Given the description of an element on the screen output the (x, y) to click on. 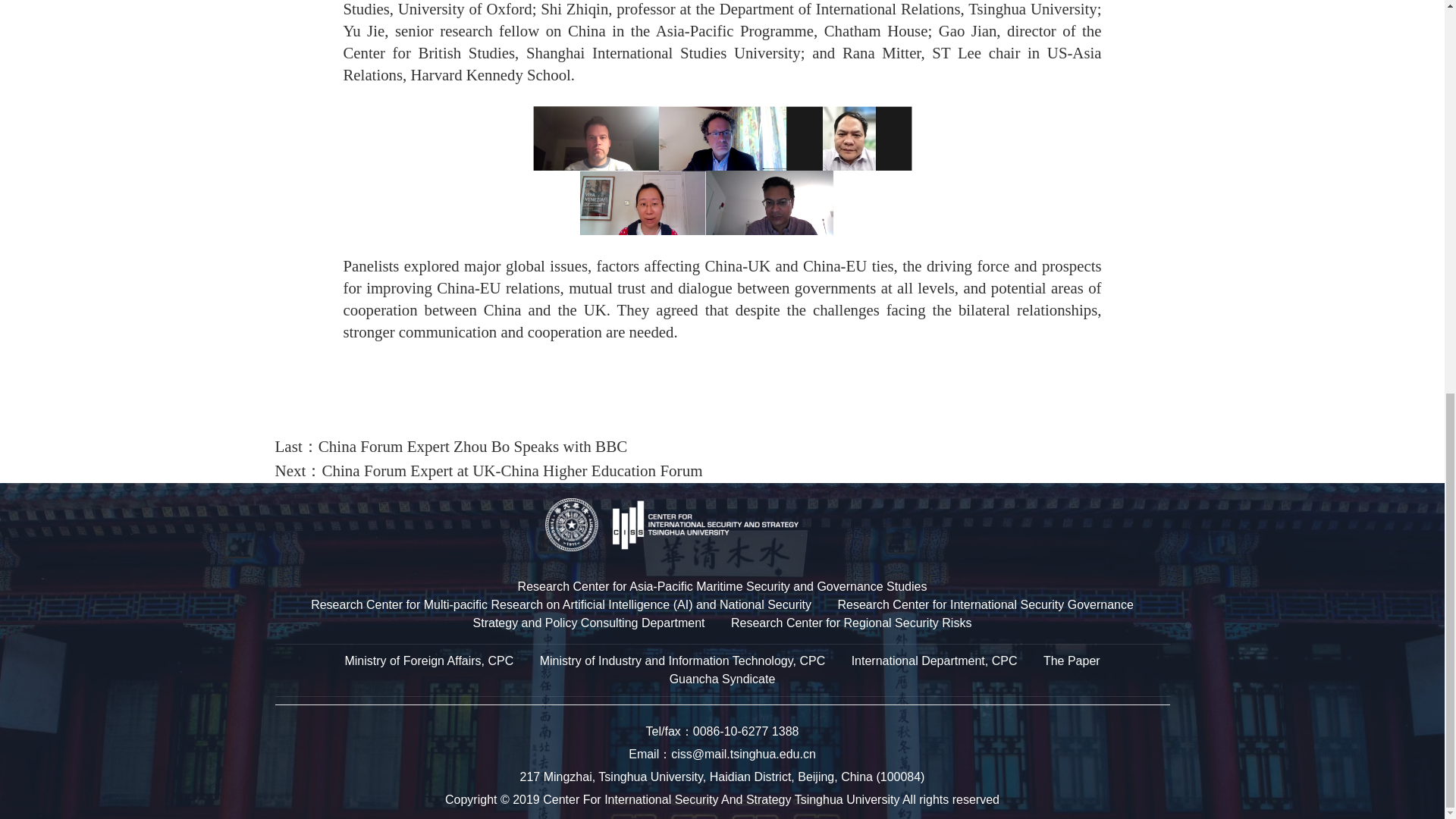
Research Center for Regional Security Risks (850, 622)
Research Center for International Security Governance (984, 604)
1695805418570075895.jpg (721, 170)
Ministry of Industry and Information Technology, CPC (682, 660)
Ministry of Foreign Affairs, CPC (428, 660)
The Paper (1071, 660)
International Department, CPC (934, 660)
Strategy and Policy Consulting Department (588, 622)
Guancha Syndicate (722, 678)
Ministry of Foreign Affairs, CPC (428, 660)
